Given the description of an element on the screen output the (x, y) to click on. 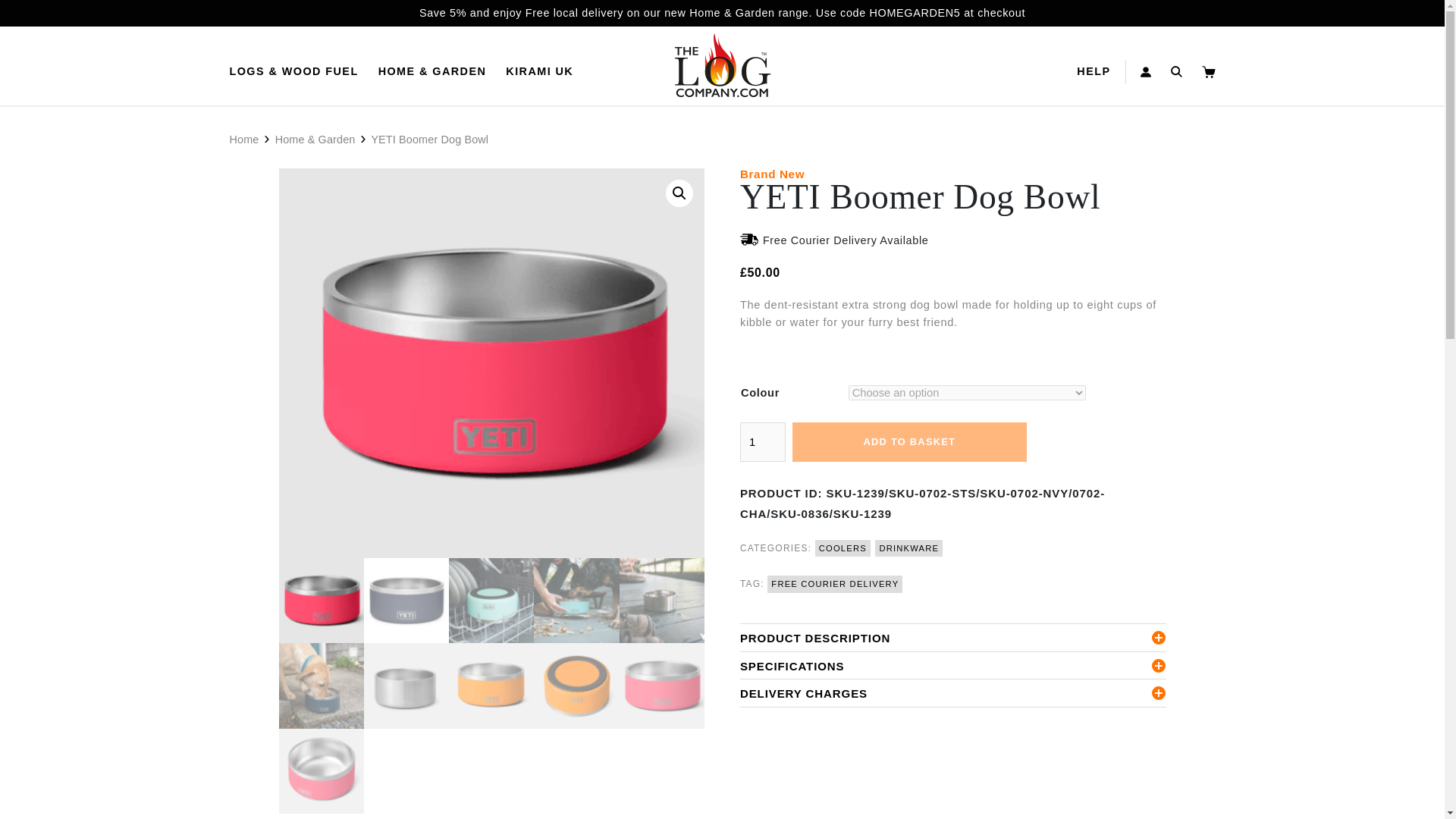
The Log Company (722, 65)
1 (762, 441)
